Given the description of an element on the screen output the (x, y) to click on. 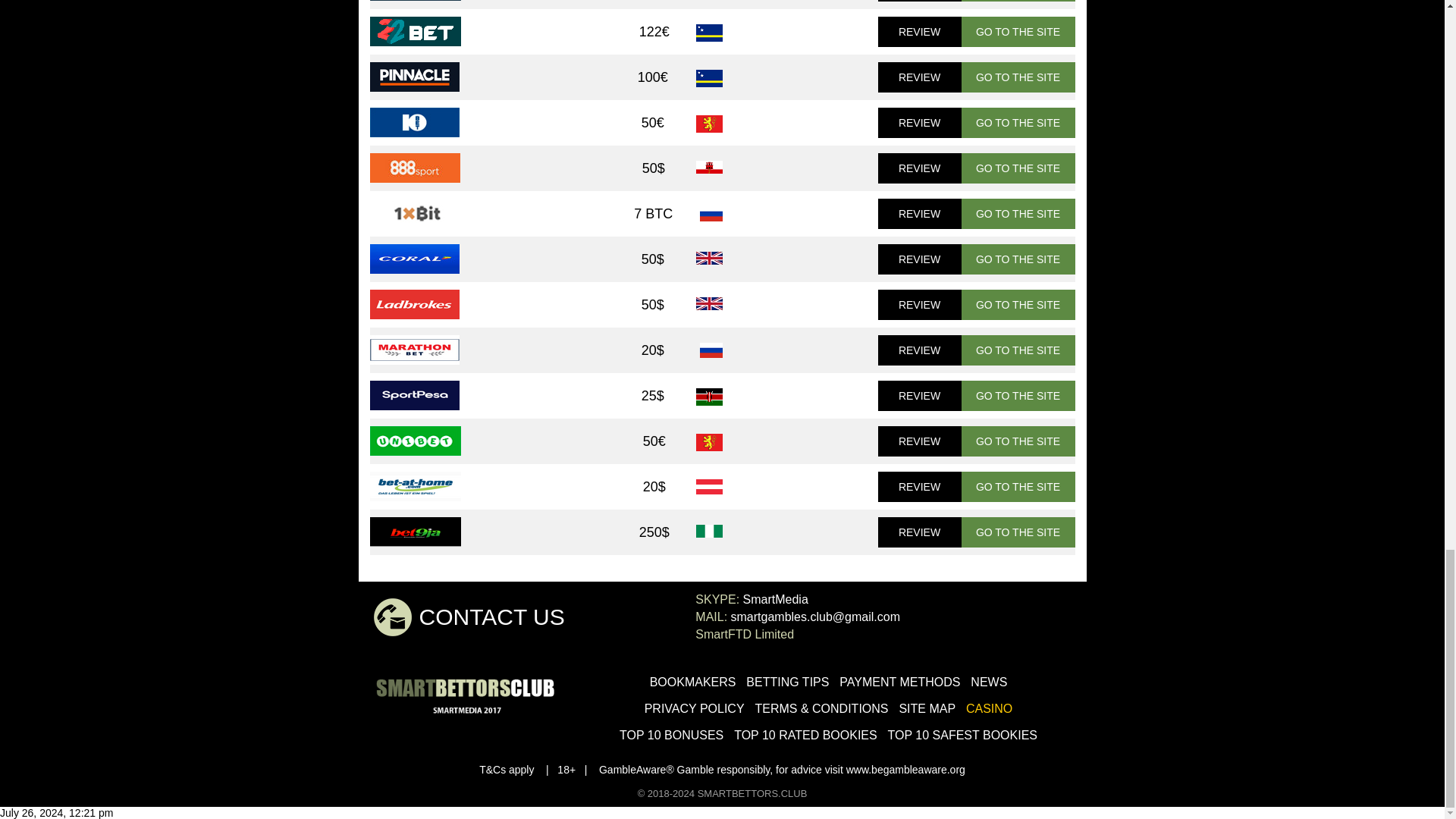
1xbit (414, 213)
GO TO THE SITE (1017, 304)
GO TO THE SITE (1017, 259)
Pinnacle (414, 76)
REVIEW (918, 31)
REVIEW (918, 77)
GO TO THE SITE (1017, 77)
Coral (414, 258)
GO TO THE SITE (1017, 168)
GO TO THE SITE (1017, 214)
22Bet (415, 30)
REVIEW (918, 168)
SportPesa (414, 395)
REVIEW (918, 214)
